Given the description of an element on the screen output the (x, y) to click on. 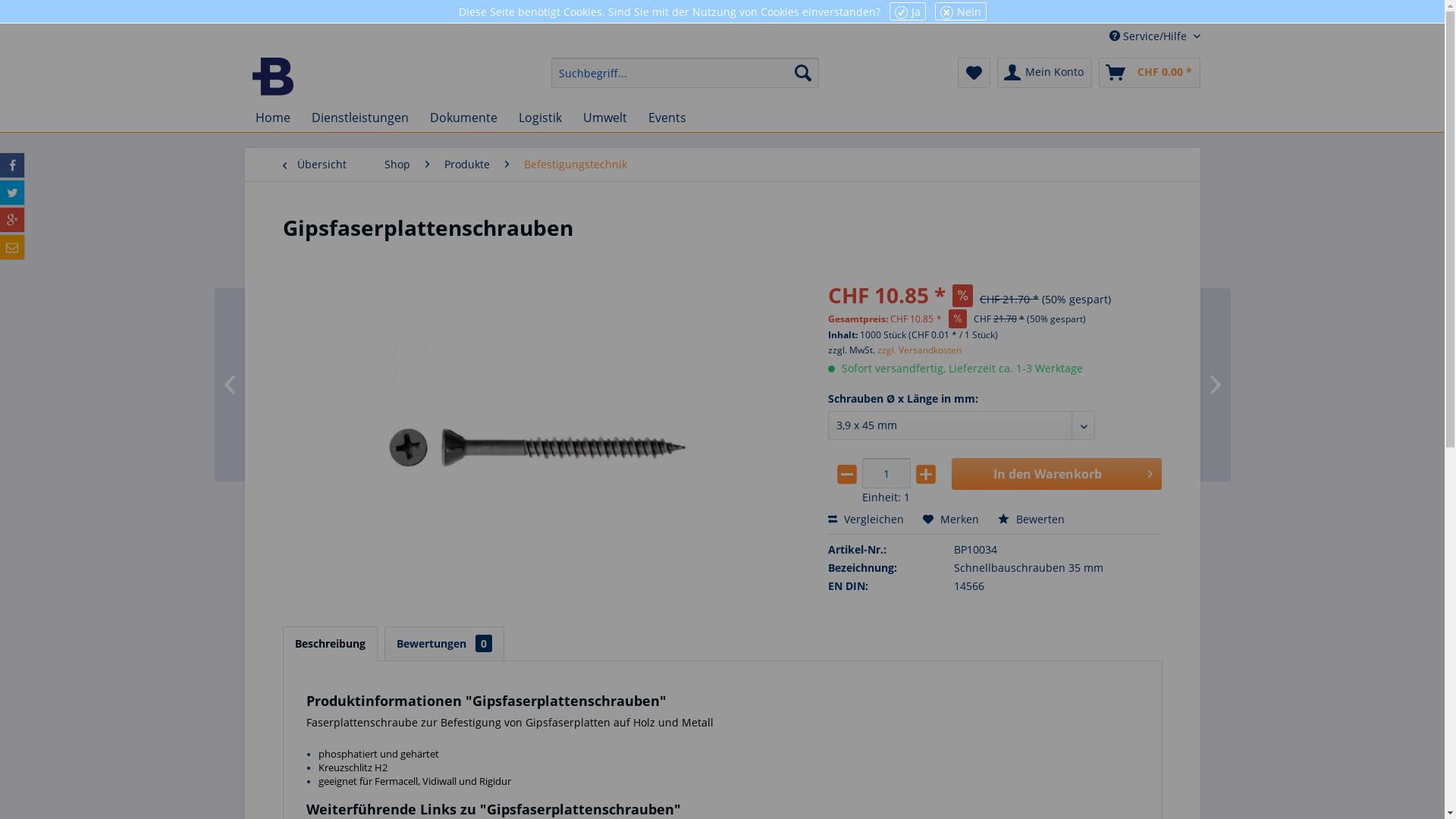
Bewerten Element type: text (1030, 518)
Deckennagel Element type: hover (304, 384)
Beschreibung Element type: text (329, 643)
zzgl. Versandkosten Element type: text (919, 349)
Bewertungen 0 Element type: text (443, 643)
Umwelt Element type: text (604, 117)
Merkzettel Element type: hover (973, 72)
Baustoffeplus - zur Startseite wechseln Element type: hover (272, 76)
Ja Element type: text (906, 11)
Google+ Element type: hover (12, 219)
Hartgipsschrauben XTB Element type: hover (1139, 384)
Nein Element type: text (959, 11)
Vergleichen Element type: text (865, 518)
Dokumente Element type: text (462, 117)
CHF 0.00 * Element type: text (1148, 72)
Facebook Element type: hover (12, 165)
Events Element type: text (666, 117)
Merken Element type: text (950, 518)
Produkte Element type: text (466, 164)
Shop Element type: text (396, 164)
Befestigungstechnik Element type: text (574, 164)
Mein Konto Element type: text (1043, 72)
Logistik Element type: text (540, 117)
Dienstleistungen Element type: text (359, 117)
Twitter Element type: hover (12, 192)
E-Mail Element type: hover (12, 247)
Home Element type: text (272, 117)
In den Warenkorb Element type: text (1056, 473)
